Given the description of an element on the screen output the (x, y) to click on. 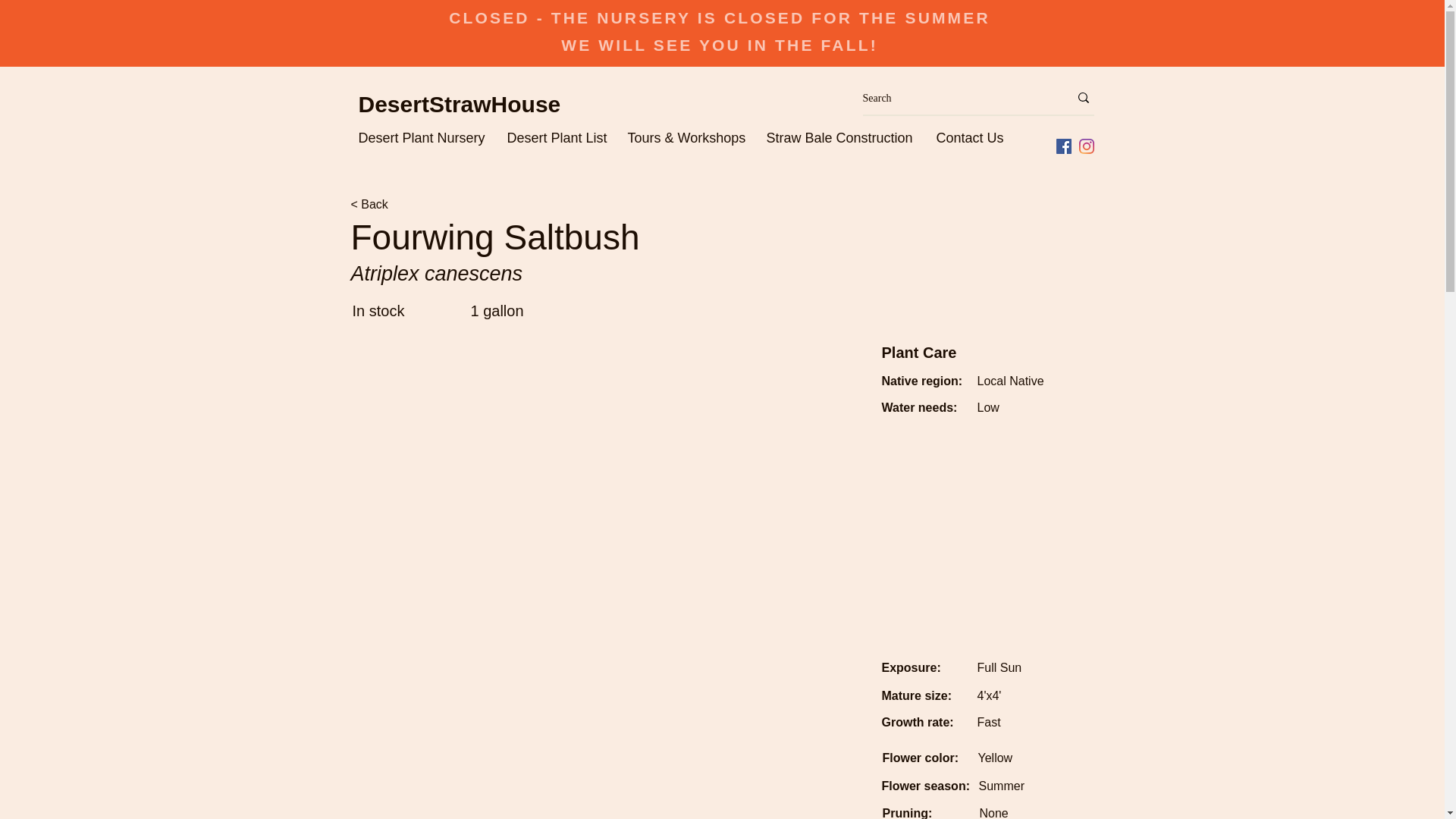
DesertStrawHouse (459, 104)
Straw Bale Construction (843, 137)
Desert Plant Nursery (424, 137)
Desert Plant List (559, 137)
Contact Us (971, 137)
